Given the description of an element on the screen output the (x, y) to click on. 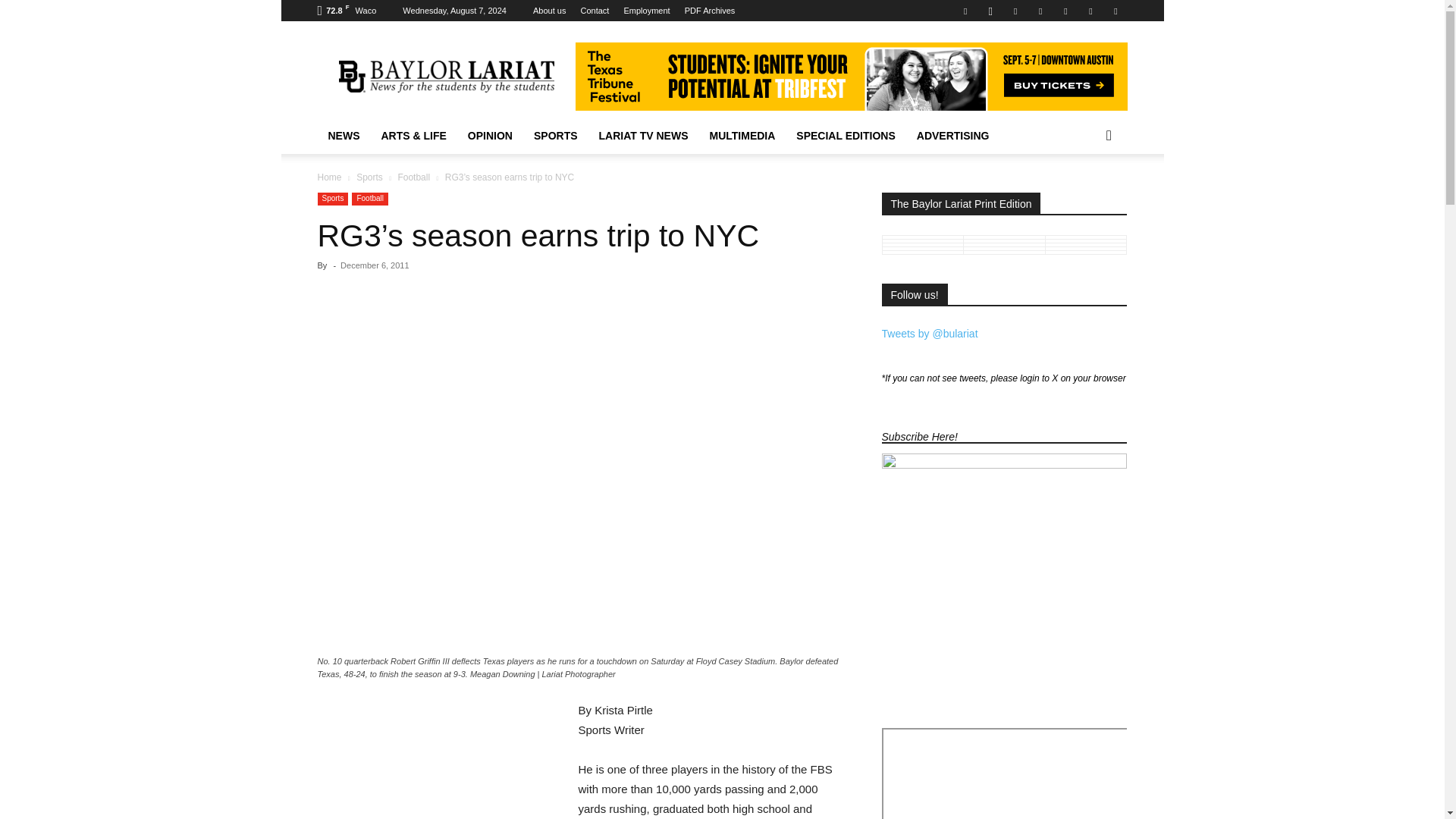
Facebook (964, 10)
Student Employment (646, 10)
Instagram (989, 10)
Contact the Lariat (595, 10)
